Given the description of an element on the screen output the (x, y) to click on. 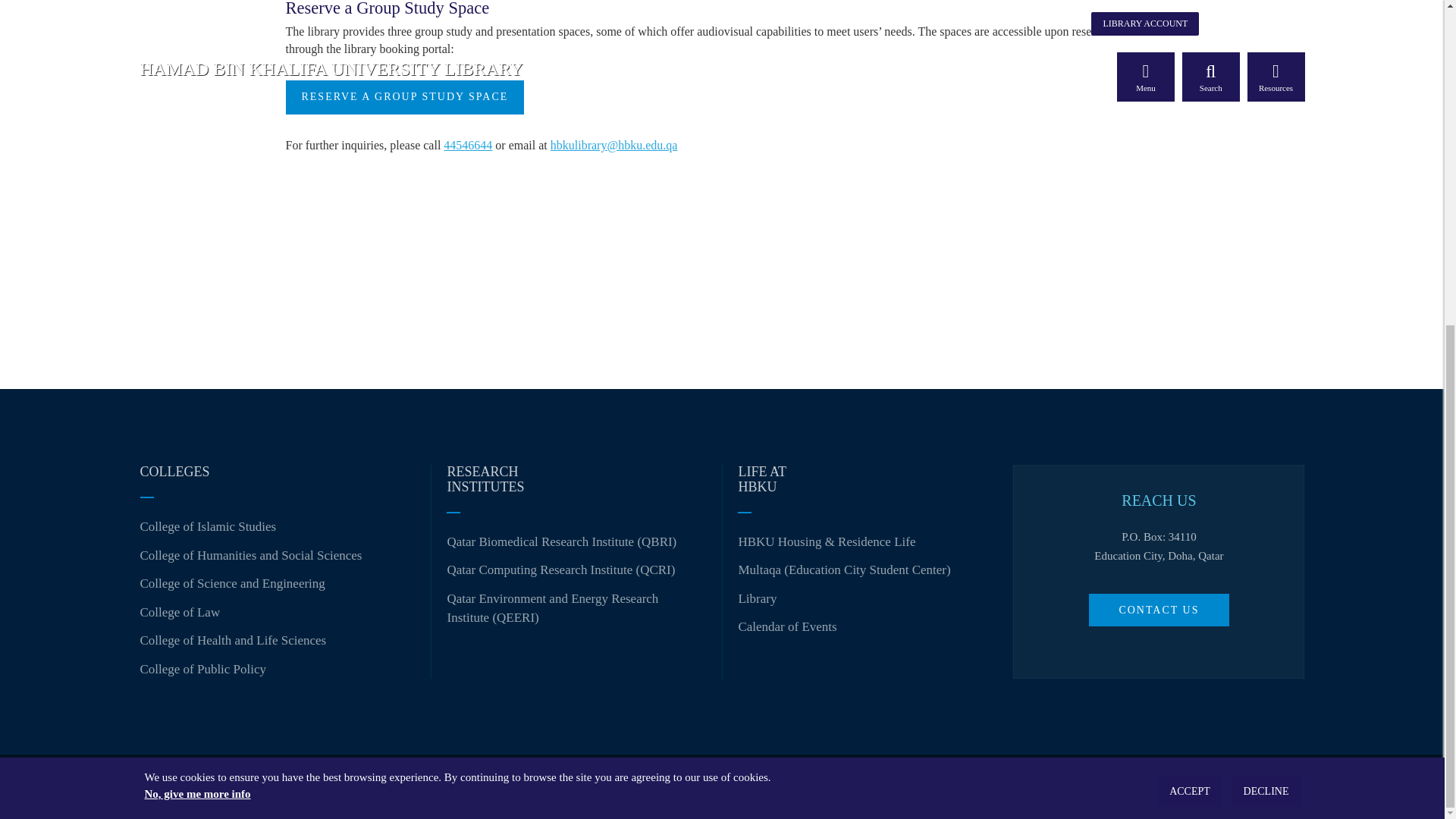
College of Science and Engineering (231, 583)
RESERVE A GROUP STUDY SPACE (404, 97)
CONTACT US (1158, 609)
Mada (440, 785)
Library (757, 598)
College of Law (179, 612)
College of Health and Life Sciences (232, 640)
College of Public Policy (202, 668)
Facebook (1136, 786)
Calendar of Events (786, 626)
HBKU Student Center (844, 569)
College of Islamic Studies (207, 526)
College of Law (179, 612)
 Twitter (1174, 786)
College of Humanities and Social Sciences (250, 554)
